Given the description of an element on the screen output the (x, y) to click on. 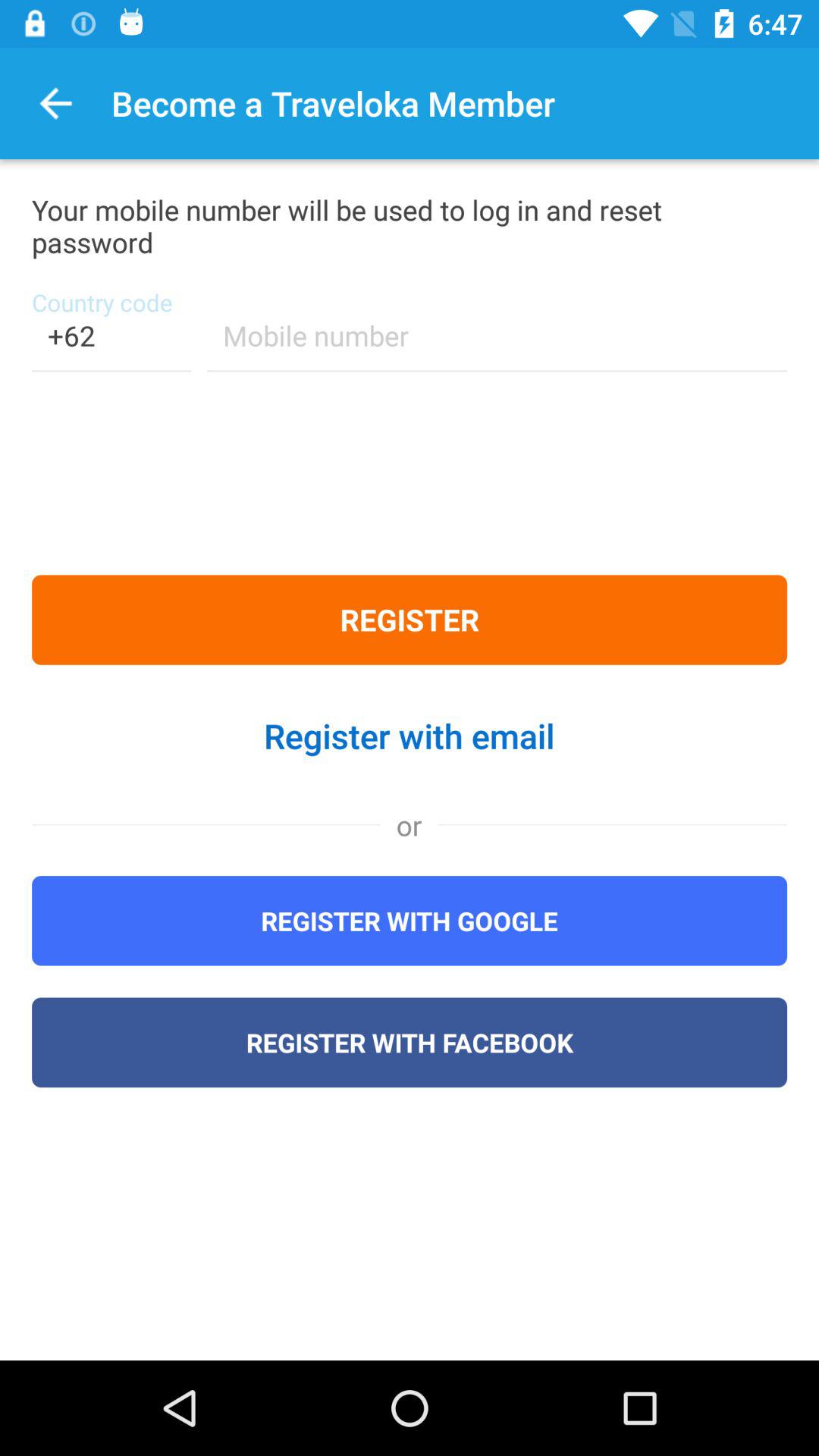
launch the item below the your mobile number item (111, 345)
